Given the description of an element on the screen output the (x, y) to click on. 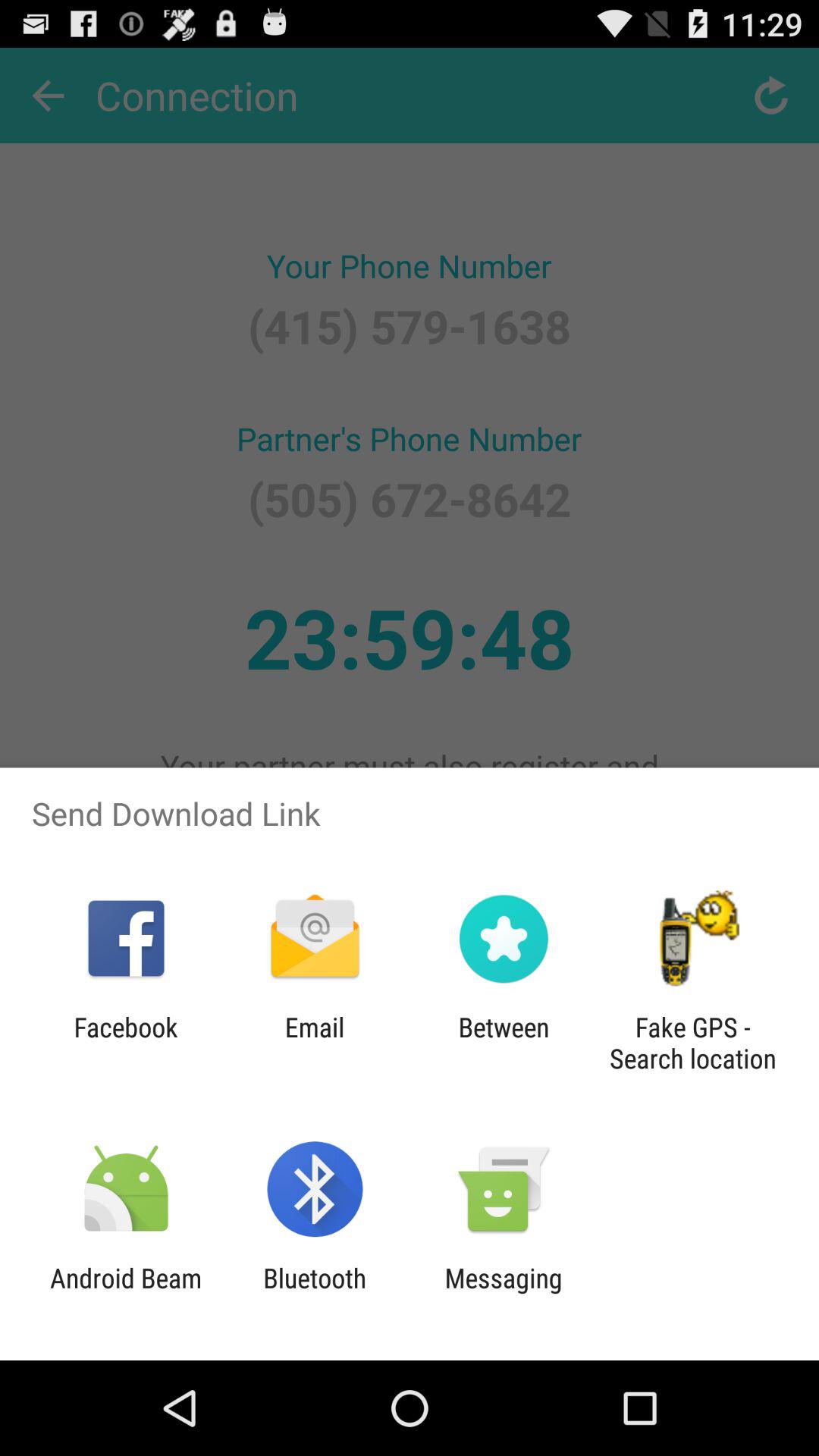
jump to messaging (503, 1293)
